Given the description of an element on the screen output the (x, y) to click on. 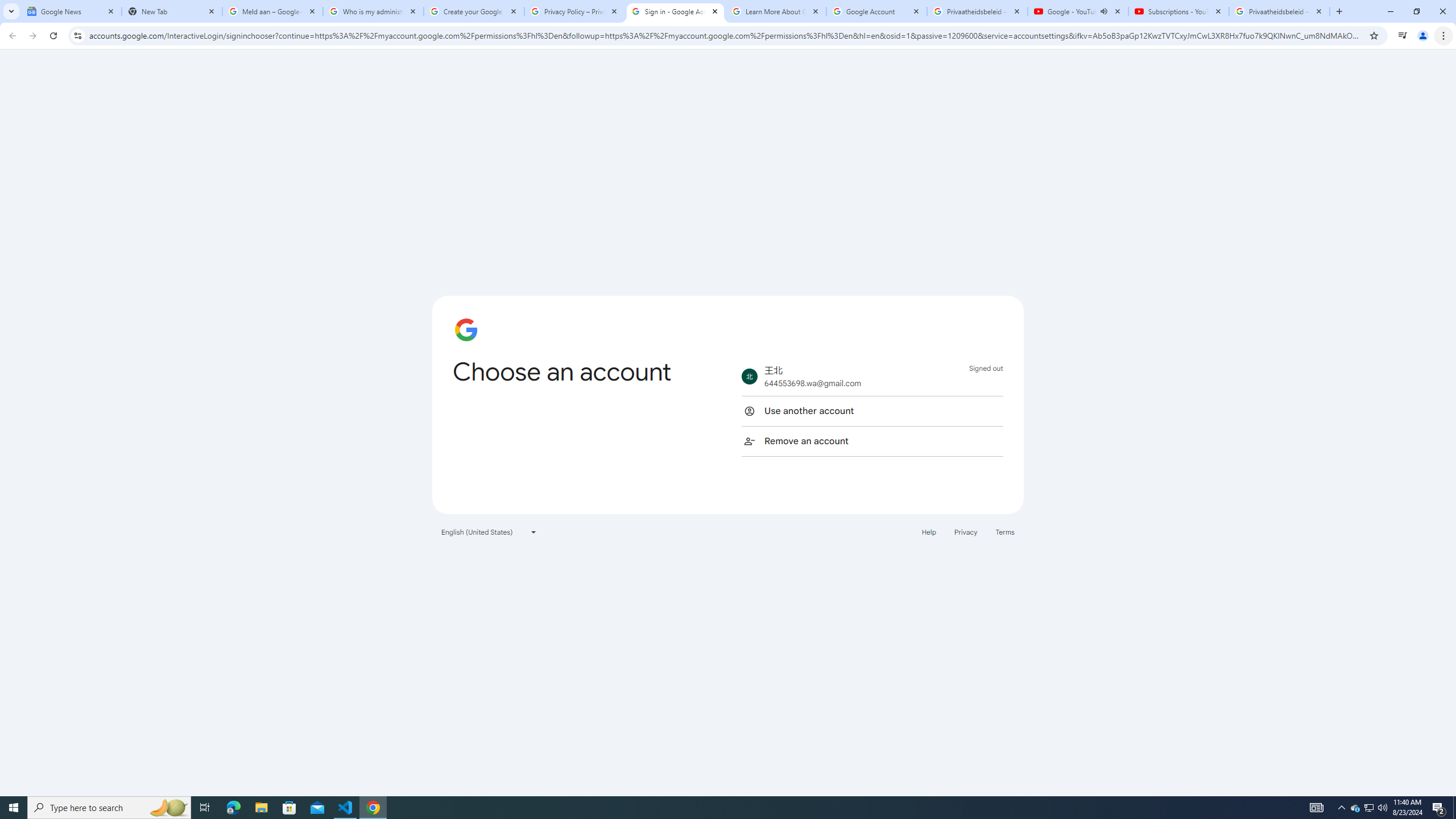
Subscriptions - YouTube (1178, 11)
Google - YouTube - Audio playing (1078, 11)
Google News (71, 11)
New Tab (171, 11)
